Given the description of an element on the screen output the (x, y) to click on. 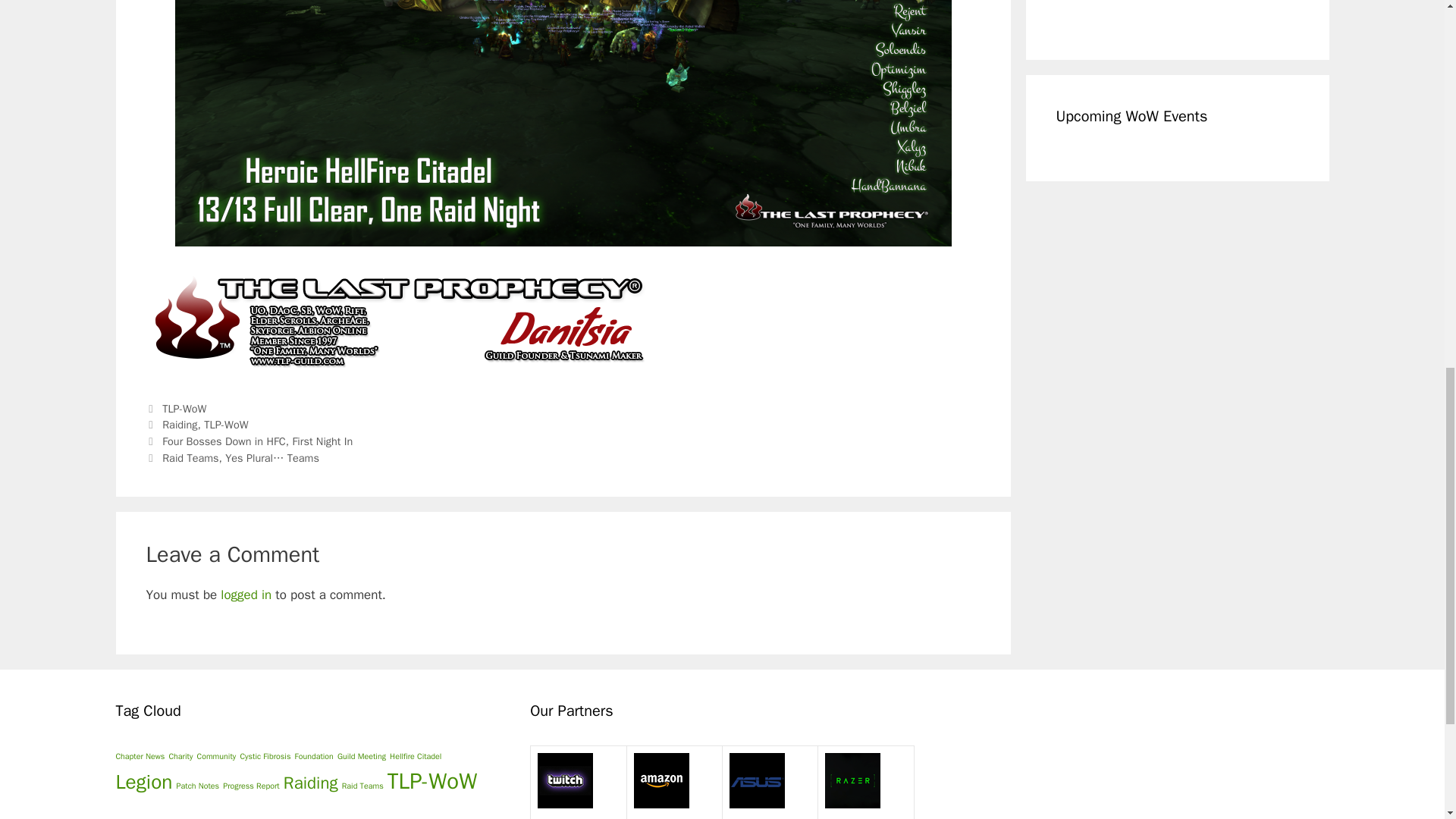
TLP-WoW (183, 408)
logged in (245, 594)
TLP-WoW (225, 424)
Raiding (178, 424)
Four Bosses Down in HFC, First Night In (256, 440)
